Given the description of an element on the screen output the (x, y) to click on. 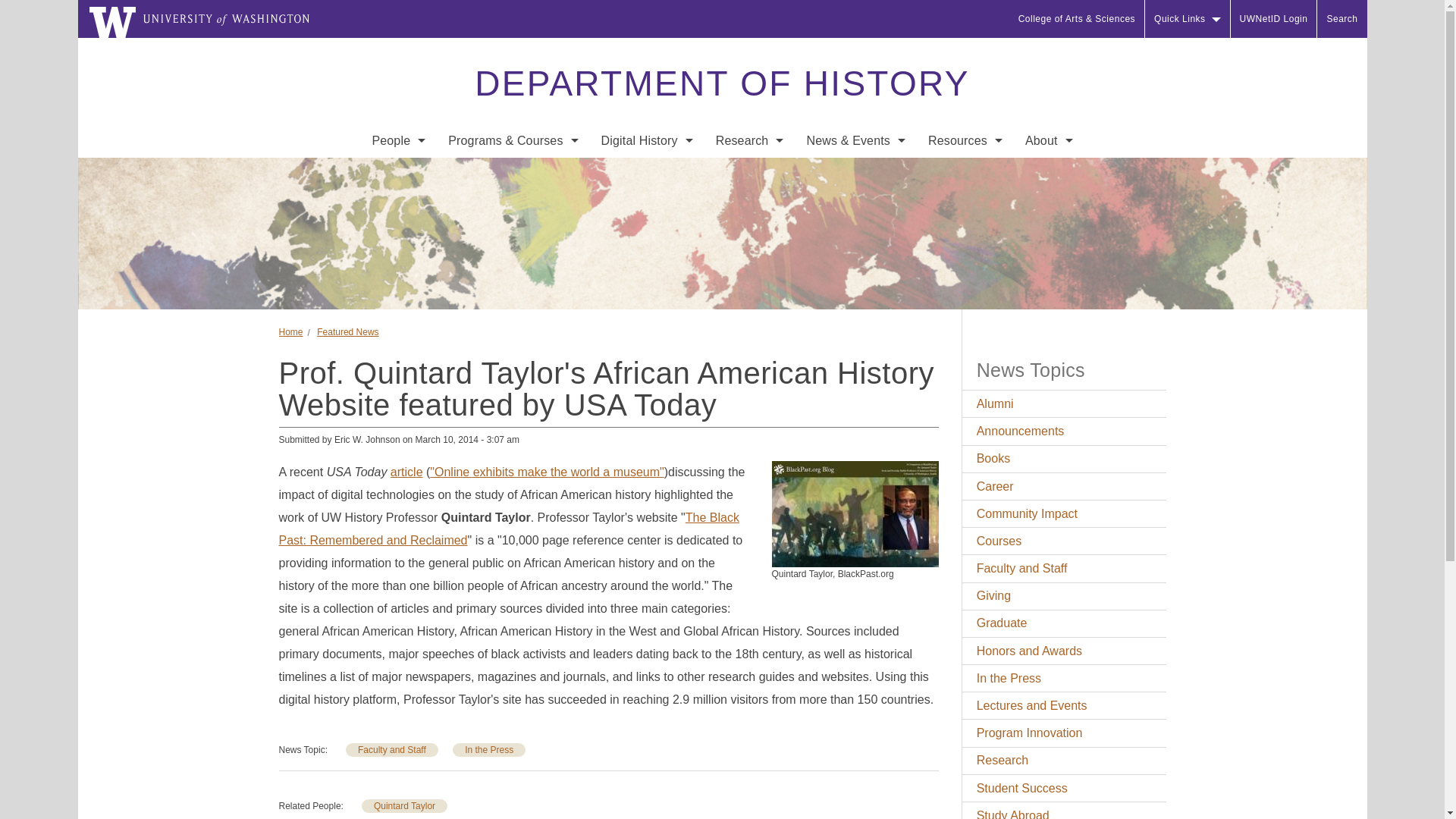
Alumni (397, 324)
DEPARTMENT OF HISTORY (721, 83)
Quick Links (1187, 18)
Search (1342, 18)
Graduate Students (397, 263)
Department of History Home (721, 83)
Full Directory (397, 173)
Graduate (512, 203)
Undergraduate (512, 173)
People (397, 140)
